Given the description of an element on the screen output the (x, y) to click on. 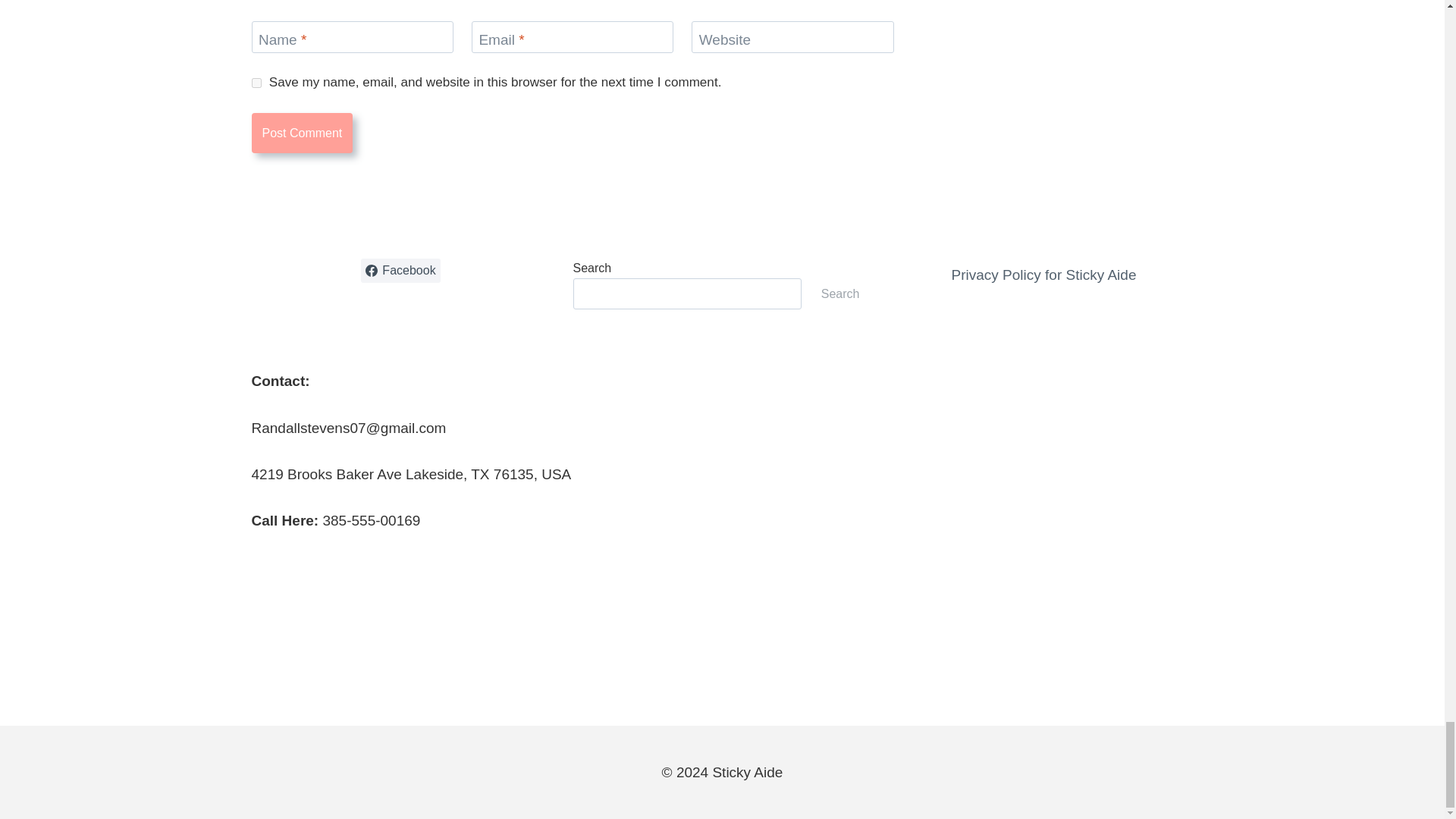
Post Comment (302, 133)
yes (256, 82)
